Given the description of an element on the screen output the (x, y) to click on. 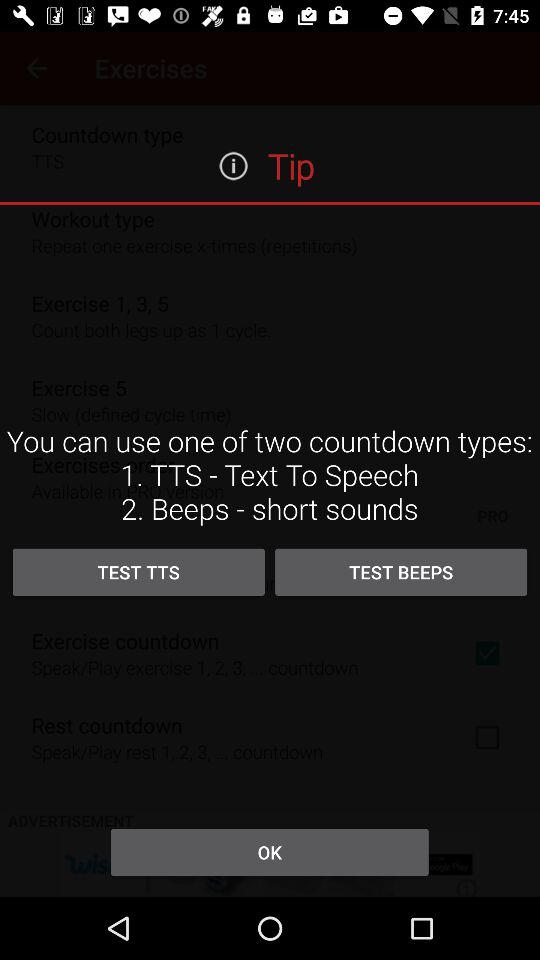
open item to the left of test beeps item (138, 571)
